Given the description of an element on the screen output the (x, y) to click on. 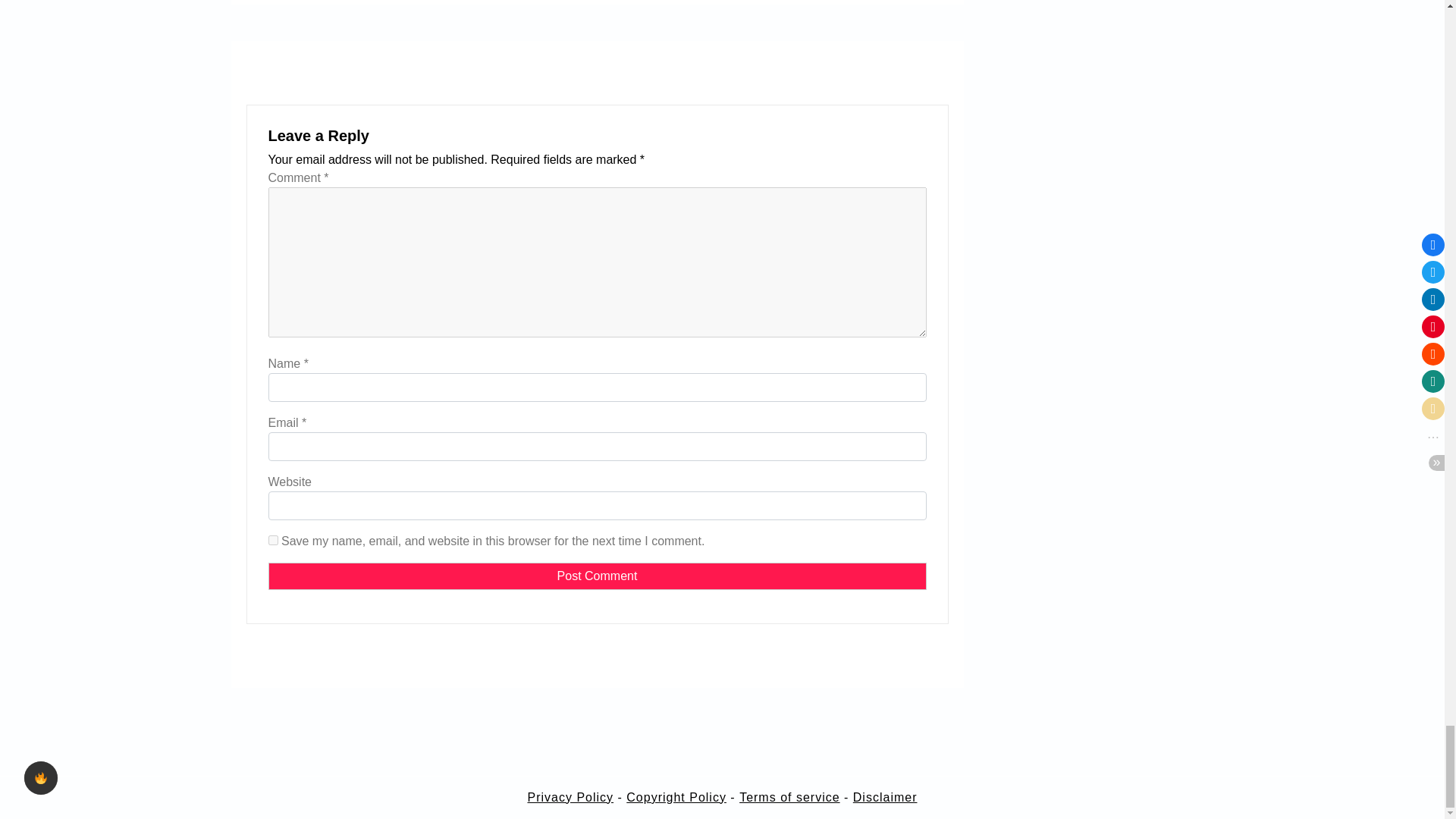
Post Comment (596, 575)
yes (272, 540)
Post Comment (596, 575)
